Given the description of an element on the screen output the (x, y) to click on. 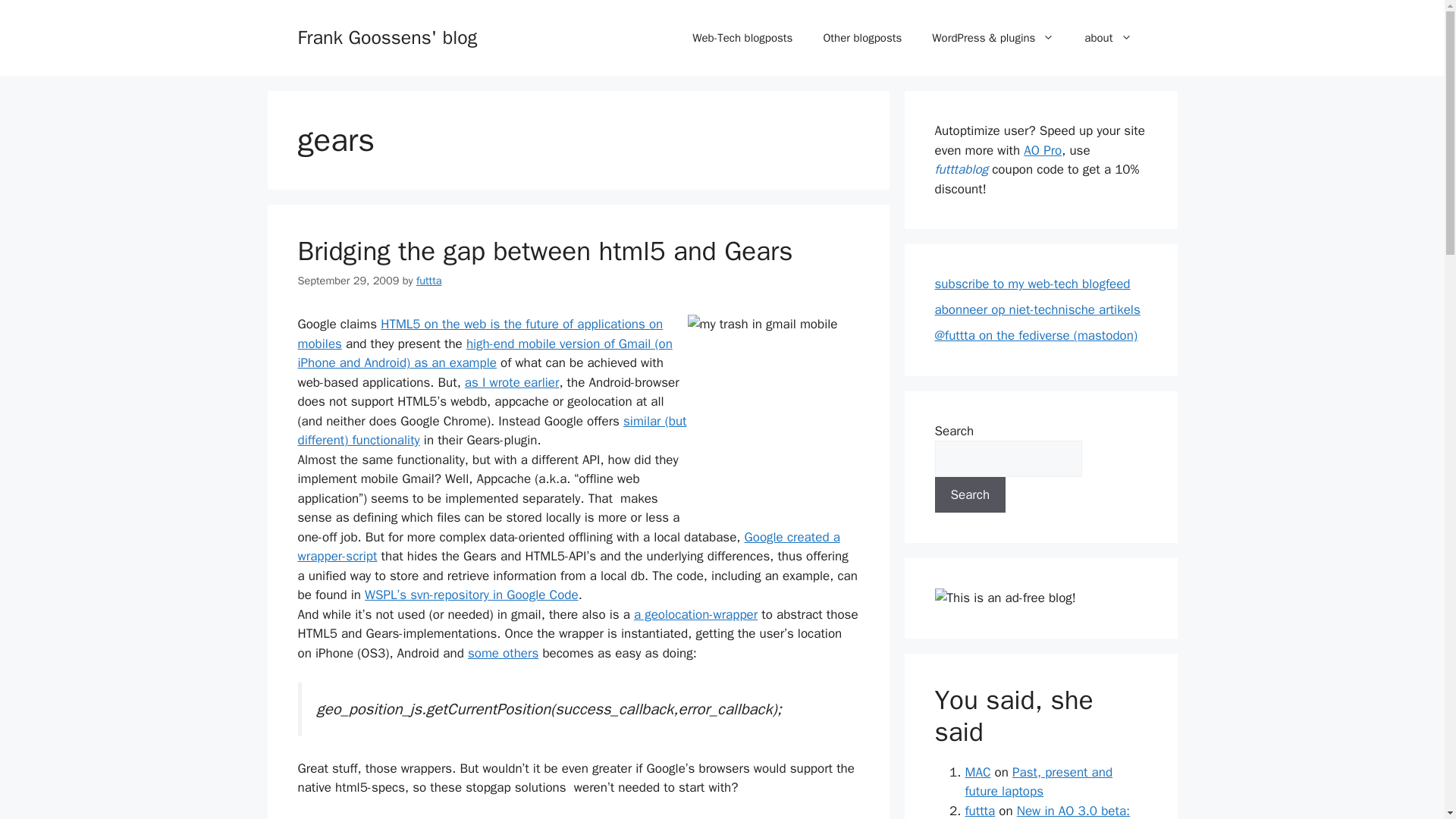
about:futtta (1107, 37)
lang:en (367, 818)
Non-tech blogposts, in Dutch (862, 37)
announcement on google blog of wspl (568, 547)
Web-Tech blogposts (742, 37)
mobile web (418, 818)
google rooting for html5. sort of. (479, 334)
Other blogposts (862, 37)
Web development (495, 818)
HTML5 on the web is the future of applications on mobiles (479, 334)
gears (618, 818)
Bridging the gap between html5 and Gears (544, 250)
earlier on blog.futtta.be; google hates html5, pushes gears (511, 382)
iphone (688, 818)
View all posts by futtta (429, 280)
